Given the description of an element on the screen output the (x, y) to click on. 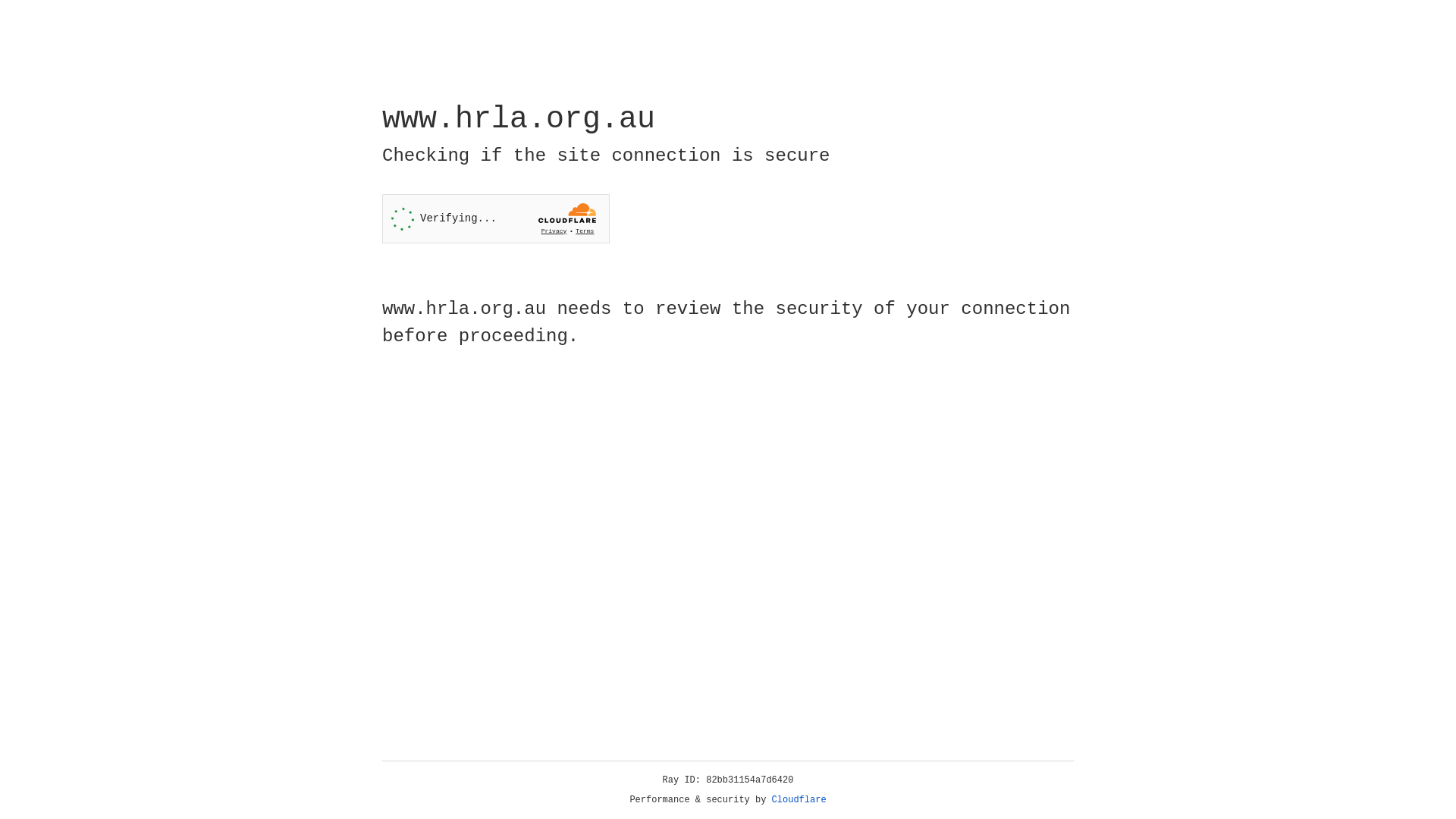
Cloudflare Element type: text (798, 799)
Widget containing a Cloudflare security challenge Element type: hover (495, 218)
